Given the description of an element on the screen output the (x, y) to click on. 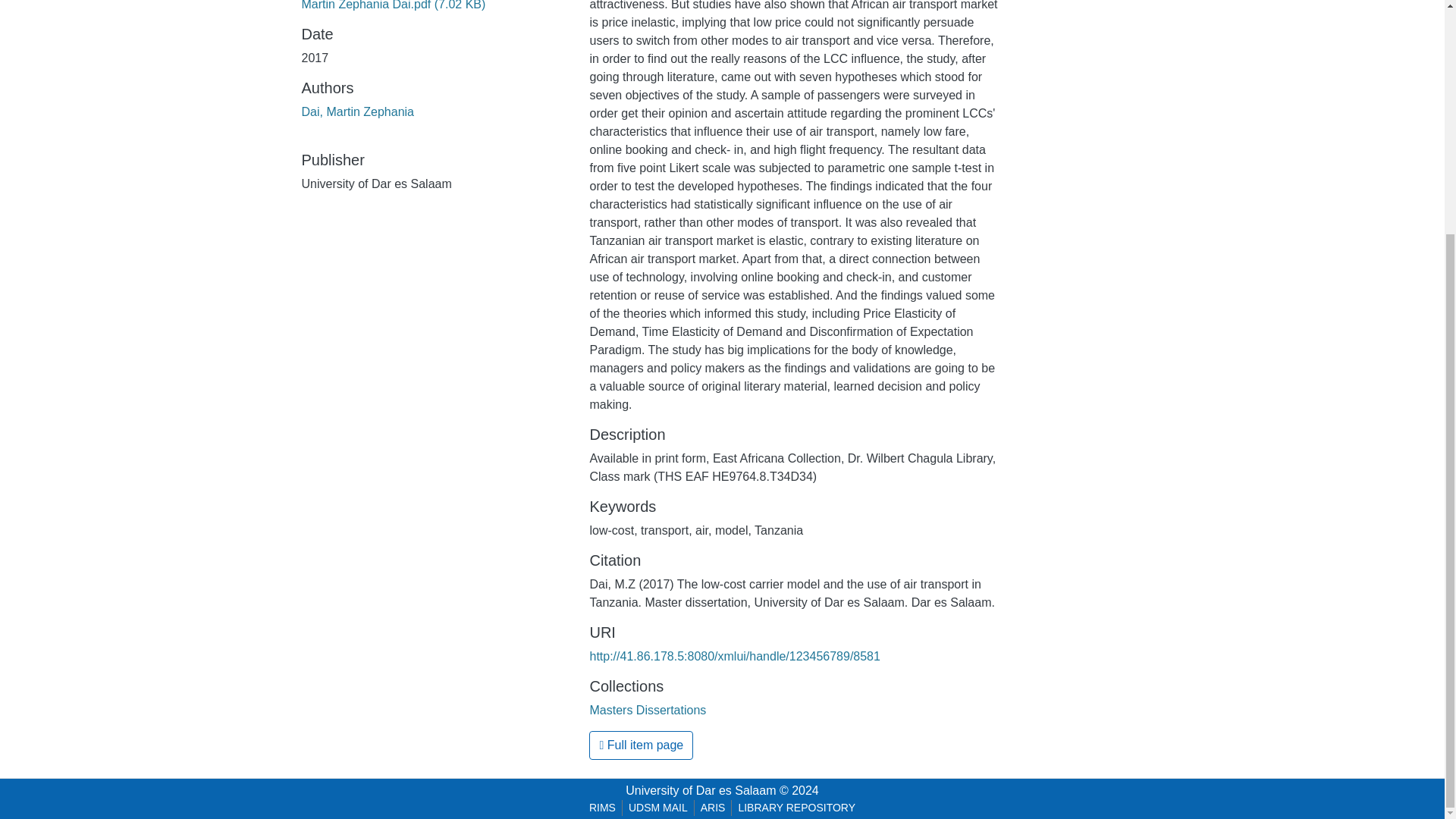
UDSM MAIL (658, 807)
LIBRARY REPOSITORY (796, 807)
Full item page (641, 745)
Masters Dissertations (647, 709)
Dai, Martin Zephania (357, 111)
ARIS (713, 807)
RIMS (602, 807)
